Given the description of an element on the screen output the (x, y) to click on. 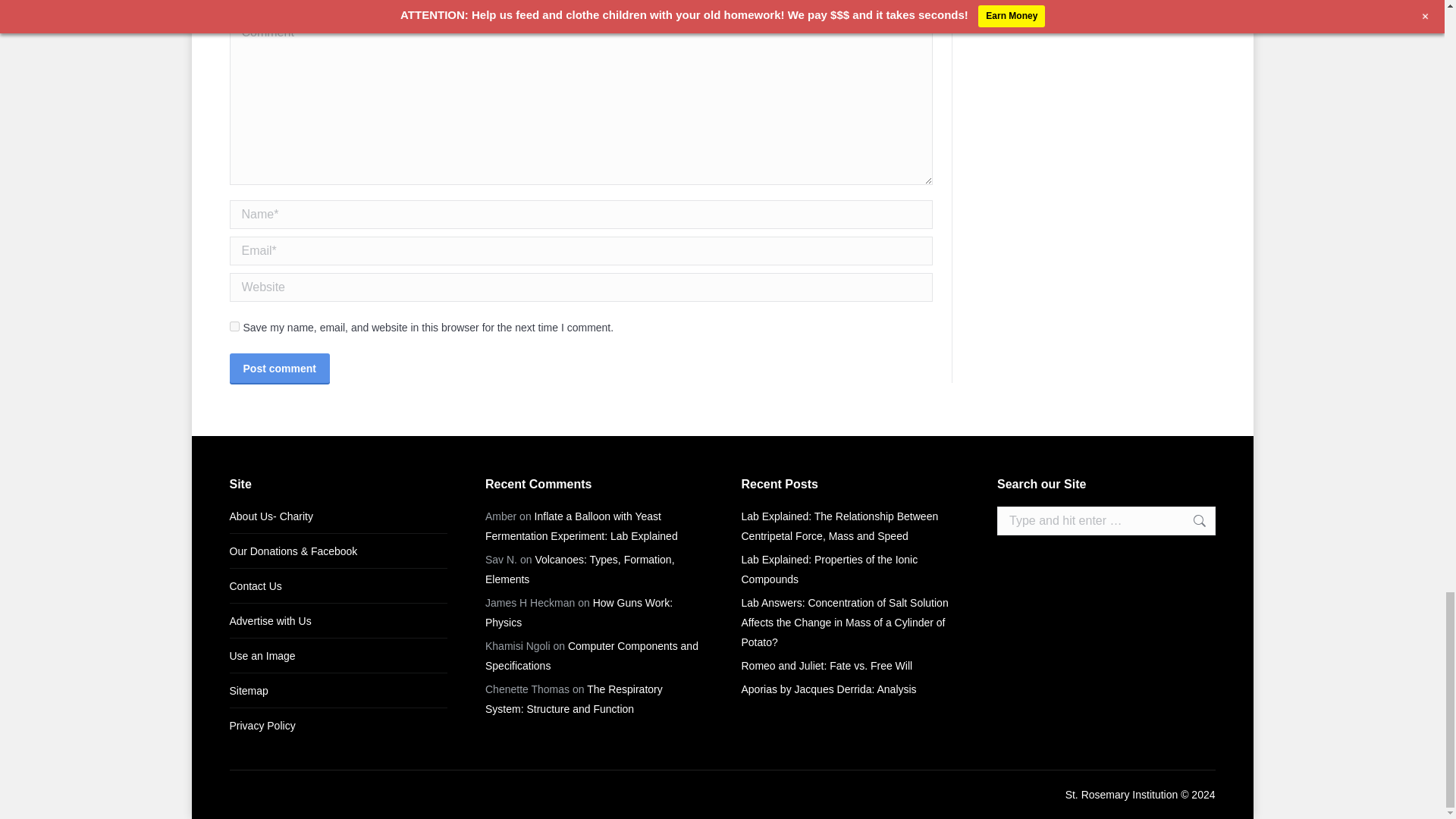
Advertise with Us (269, 620)
yes (233, 326)
Contact Us (254, 586)
Post comment (278, 367)
About Us- Charity (270, 516)
Go! (1191, 520)
Go! (1191, 520)
